Given the description of an element on the screen output the (x, y) to click on. 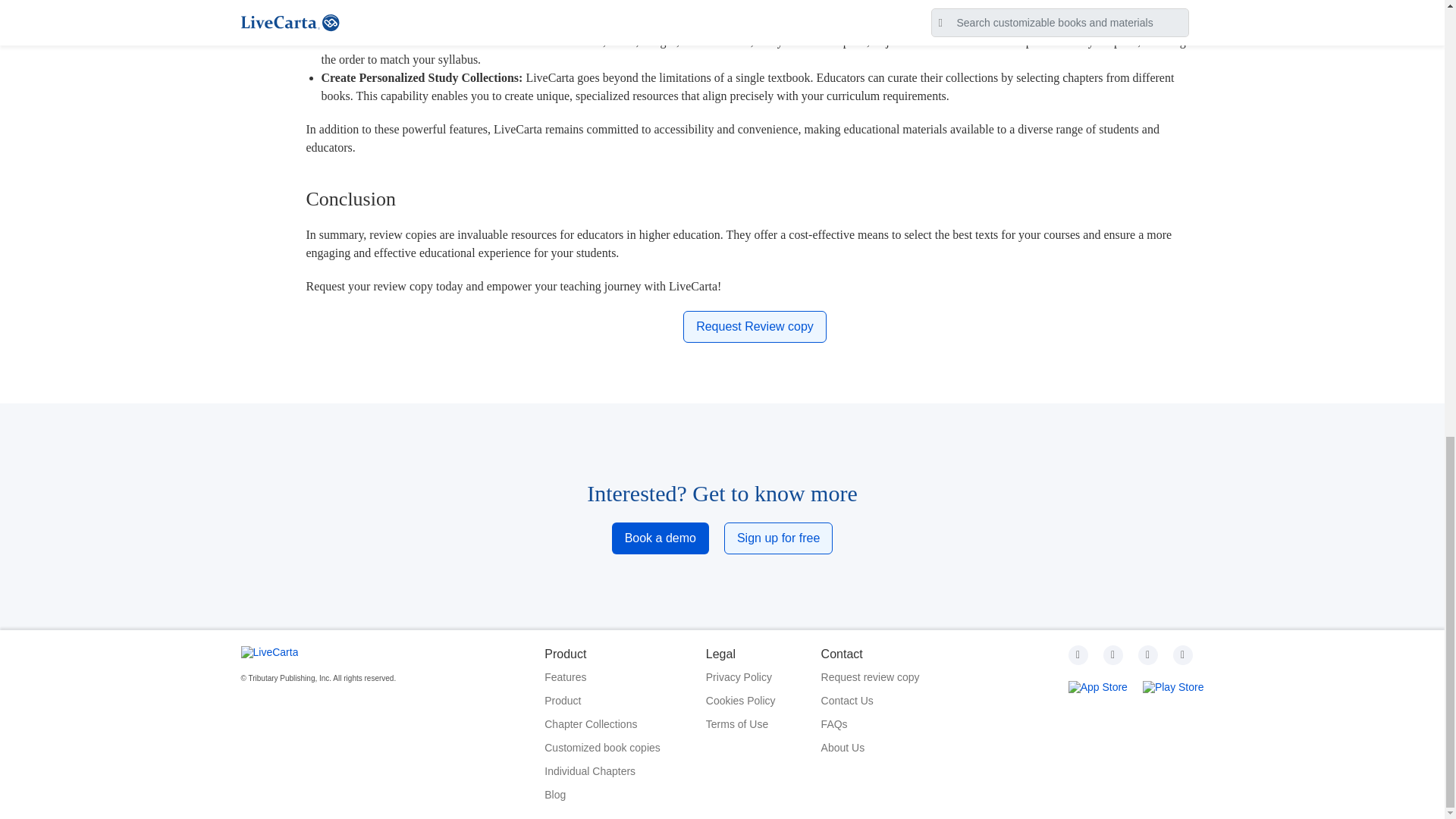
Facebook (1147, 655)
Instagram (1112, 655)
LinkedIn (1182, 655)
About Us (870, 747)
Request Review copy (754, 327)
Request review copy (870, 677)
Twitter (1077, 655)
Individual Chapters (602, 771)
Book a demo (660, 538)
Customized book copies (602, 747)
